Given the description of an element on the screen output the (x, y) to click on. 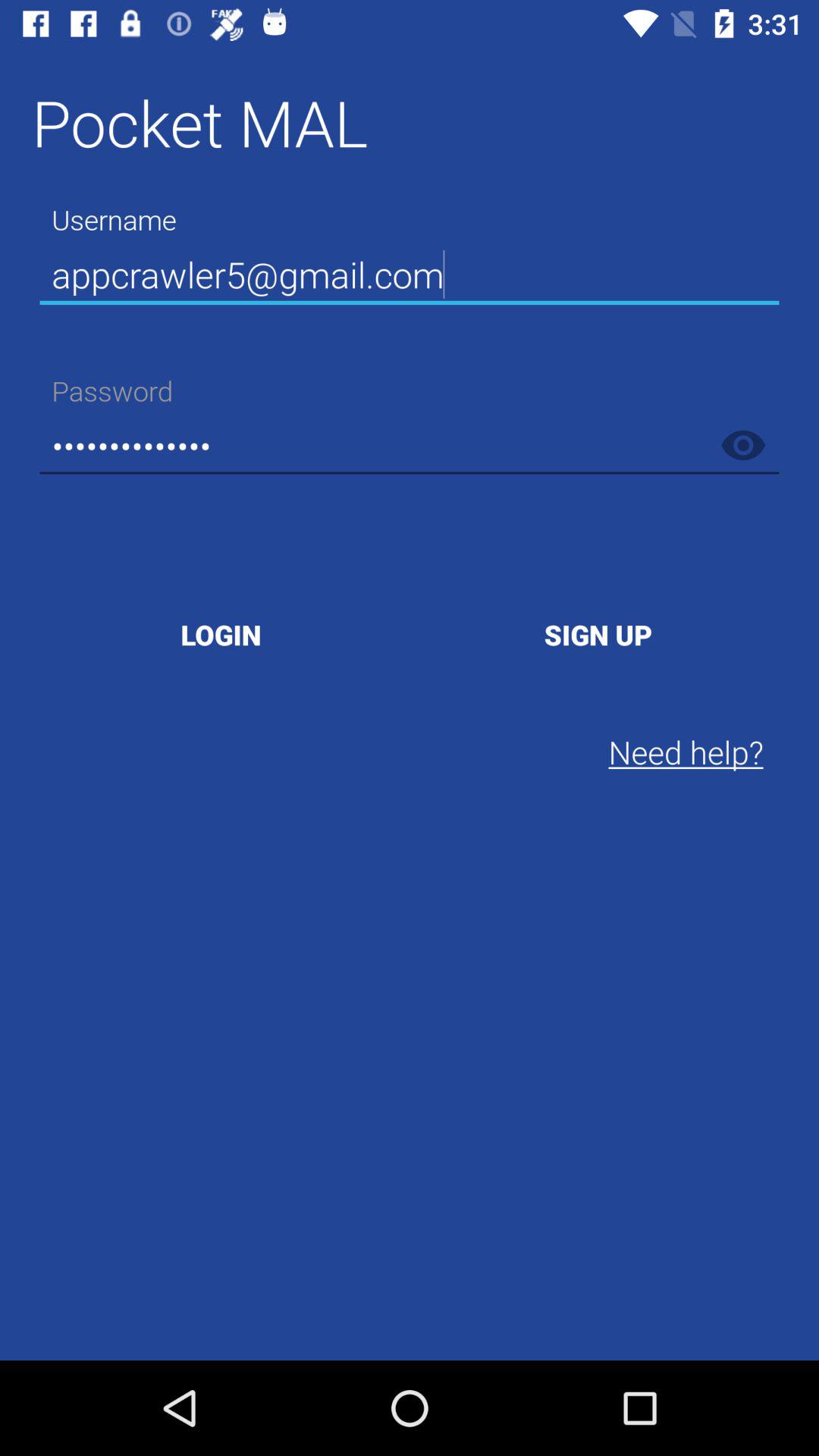
view password (743, 445)
